Given the description of an element on the screen output the (x, y) to click on. 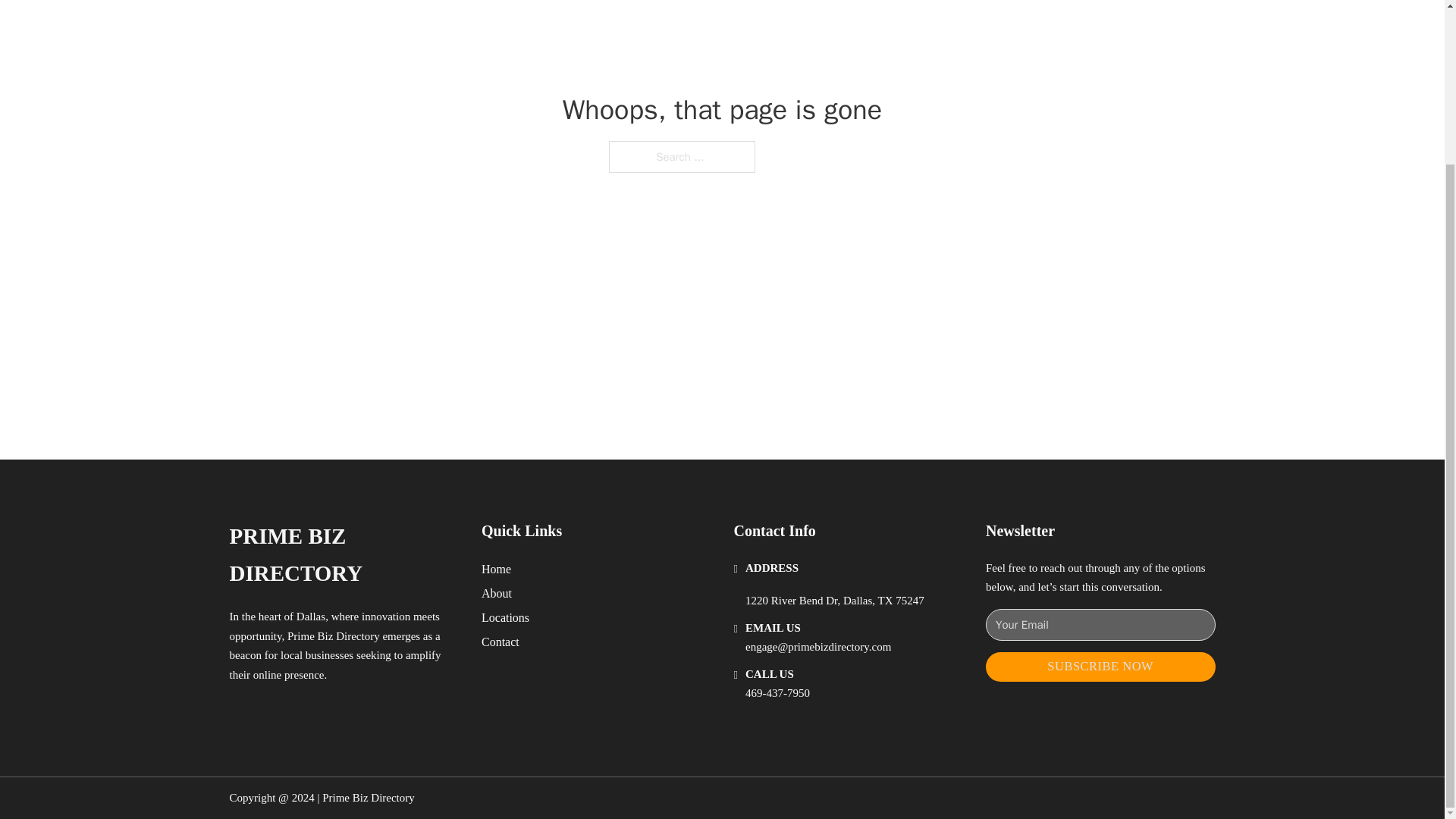
SUBSCRIBE NOW (1100, 666)
Contact (500, 641)
469-437-7950 (777, 693)
Locations (505, 617)
PRIME BIZ DIRECTORY (343, 554)
About (496, 593)
Home (496, 568)
